Given the description of an element on the screen output the (x, y) to click on. 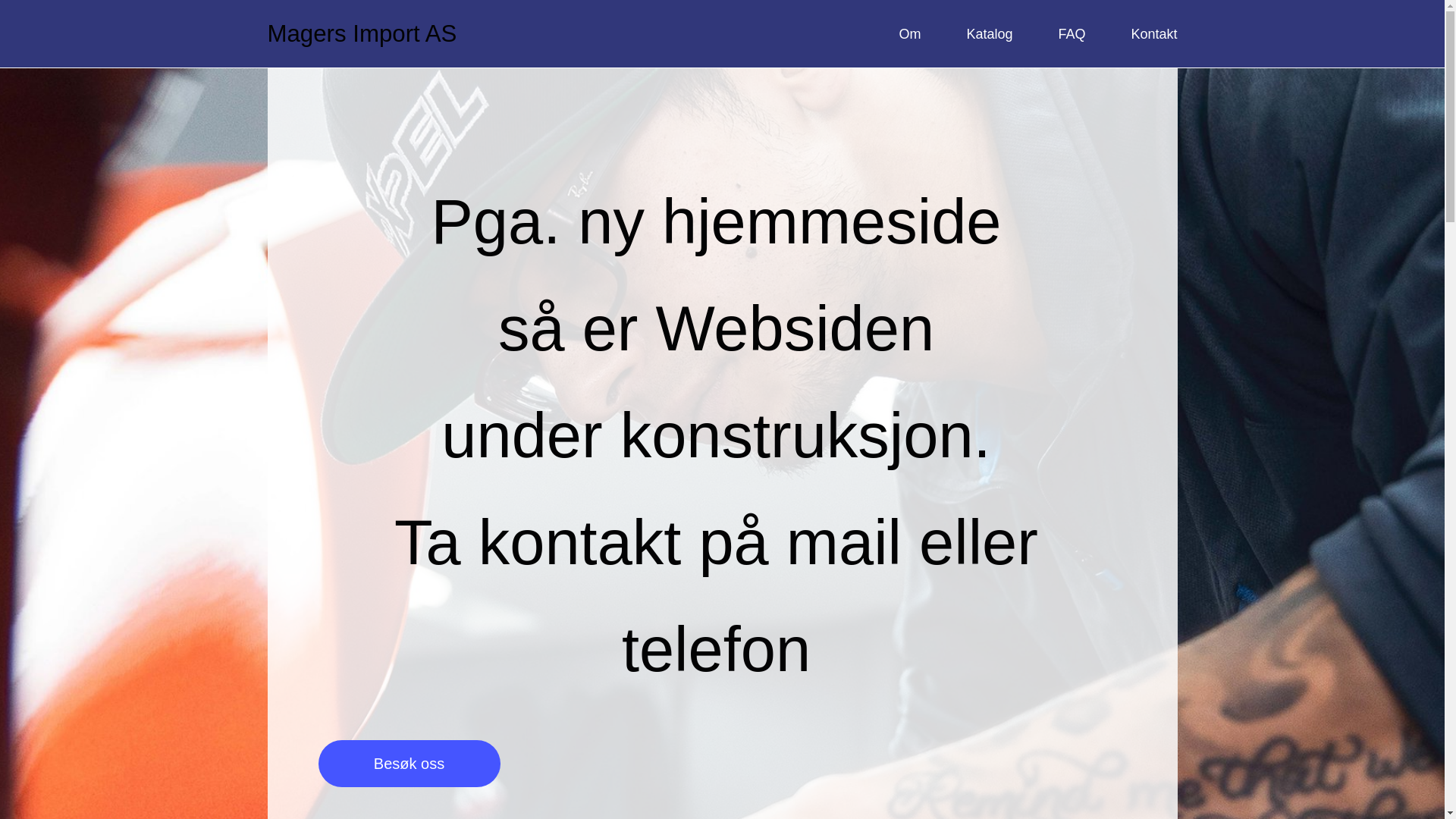
Katalog (988, 33)
Om (909, 33)
Kontakt (1153, 33)
FAQ (1071, 33)
